Given the description of an element on the screen output the (x, y) to click on. 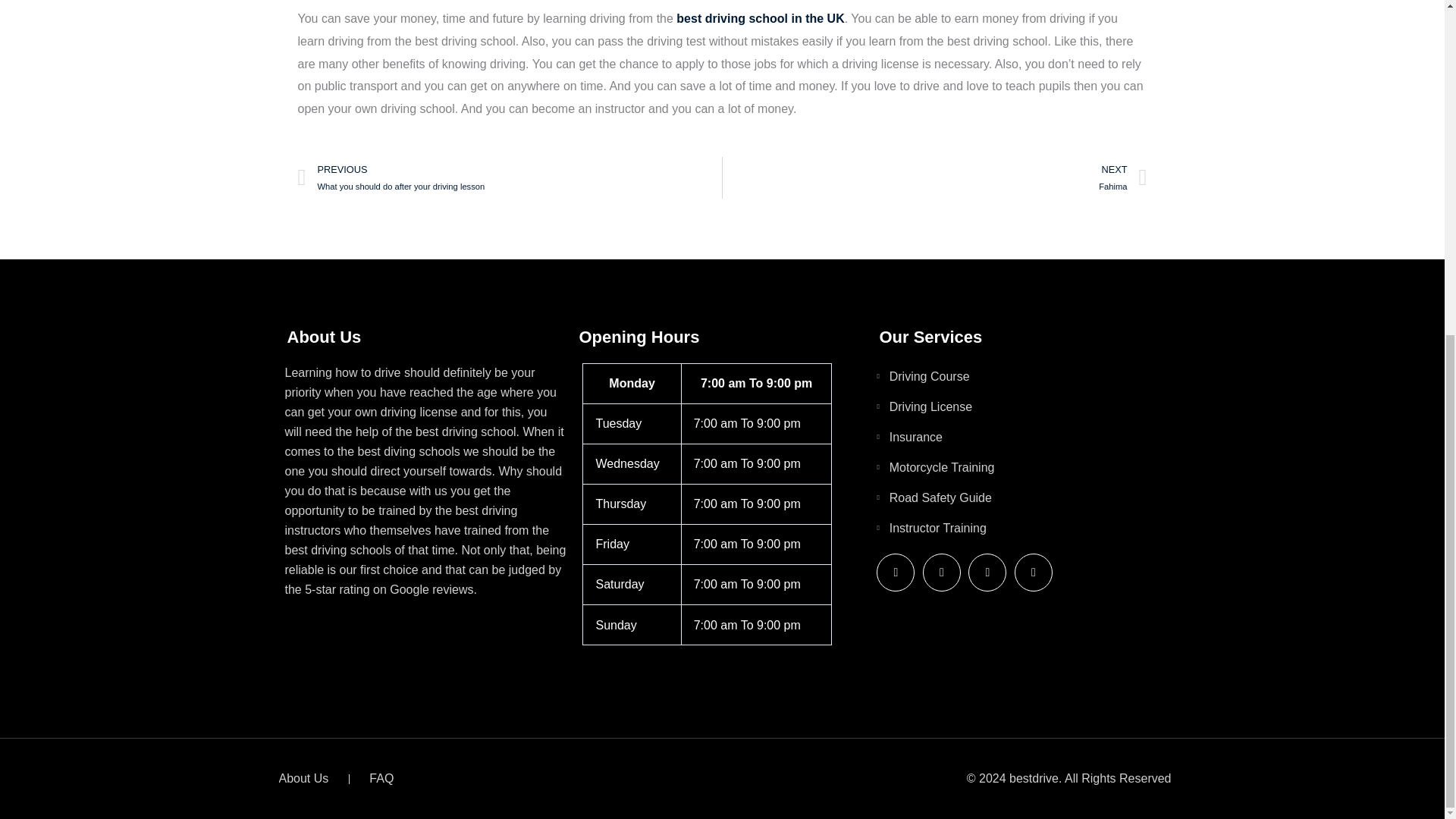
Motorcycle Training (1021, 467)
Driving License (1021, 406)
FAQ (934, 178)
Driving Course (381, 778)
Instructor Training (1021, 376)
best driving school in the UK (1021, 528)
Insurance (760, 18)
Road Safety Guide (509, 178)
